Given the description of an element on the screen output the (x, y) to click on. 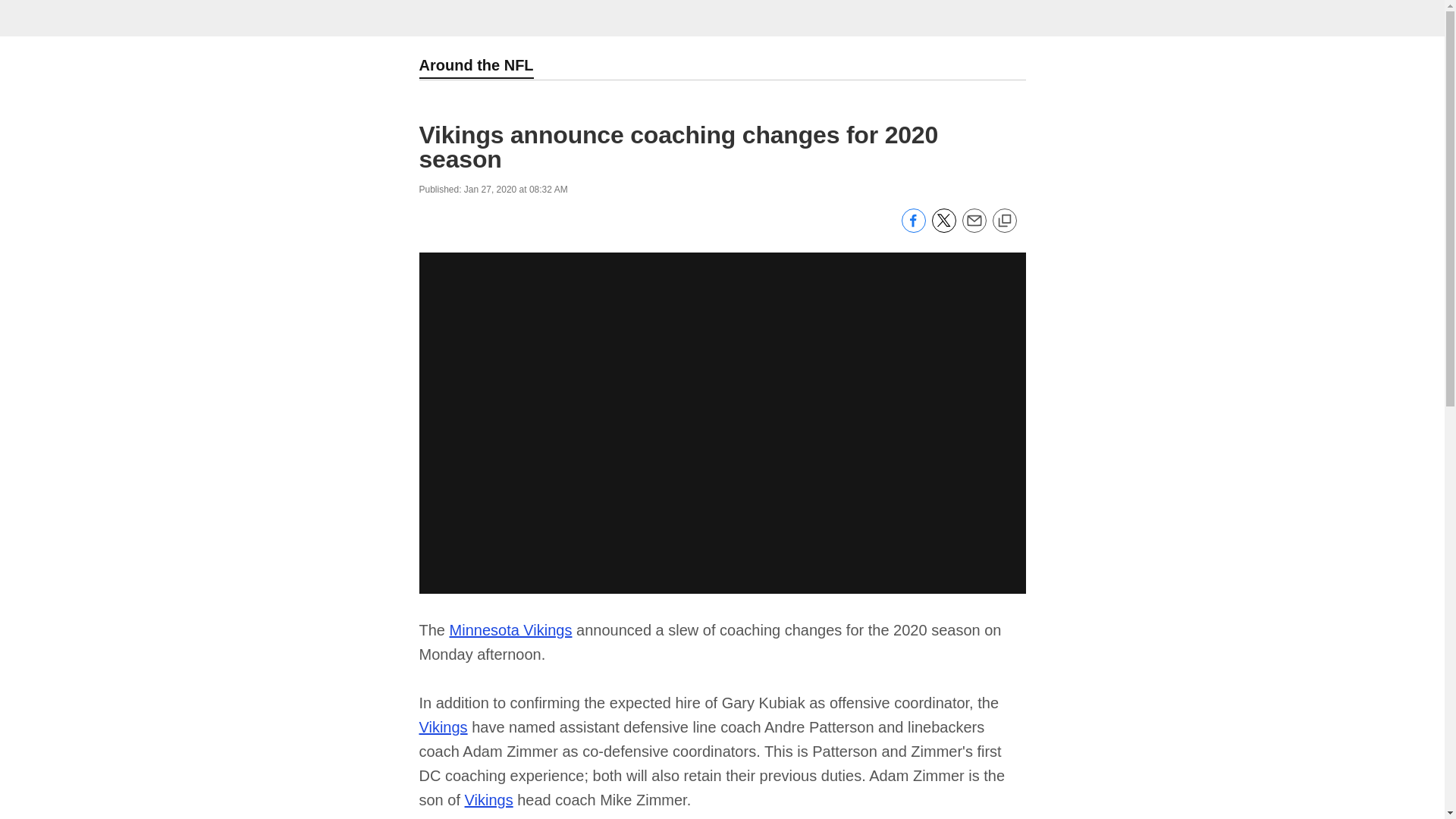
Share on Facebook (912, 228)
Vikings (443, 727)
Around the NFL (475, 66)
Send email (972, 228)
Share on Twitter (943, 228)
Minnesota Vikings (510, 629)
Vikings (488, 799)
Copy link (1003, 221)
